Given the description of an element on the screen output the (x, y) to click on. 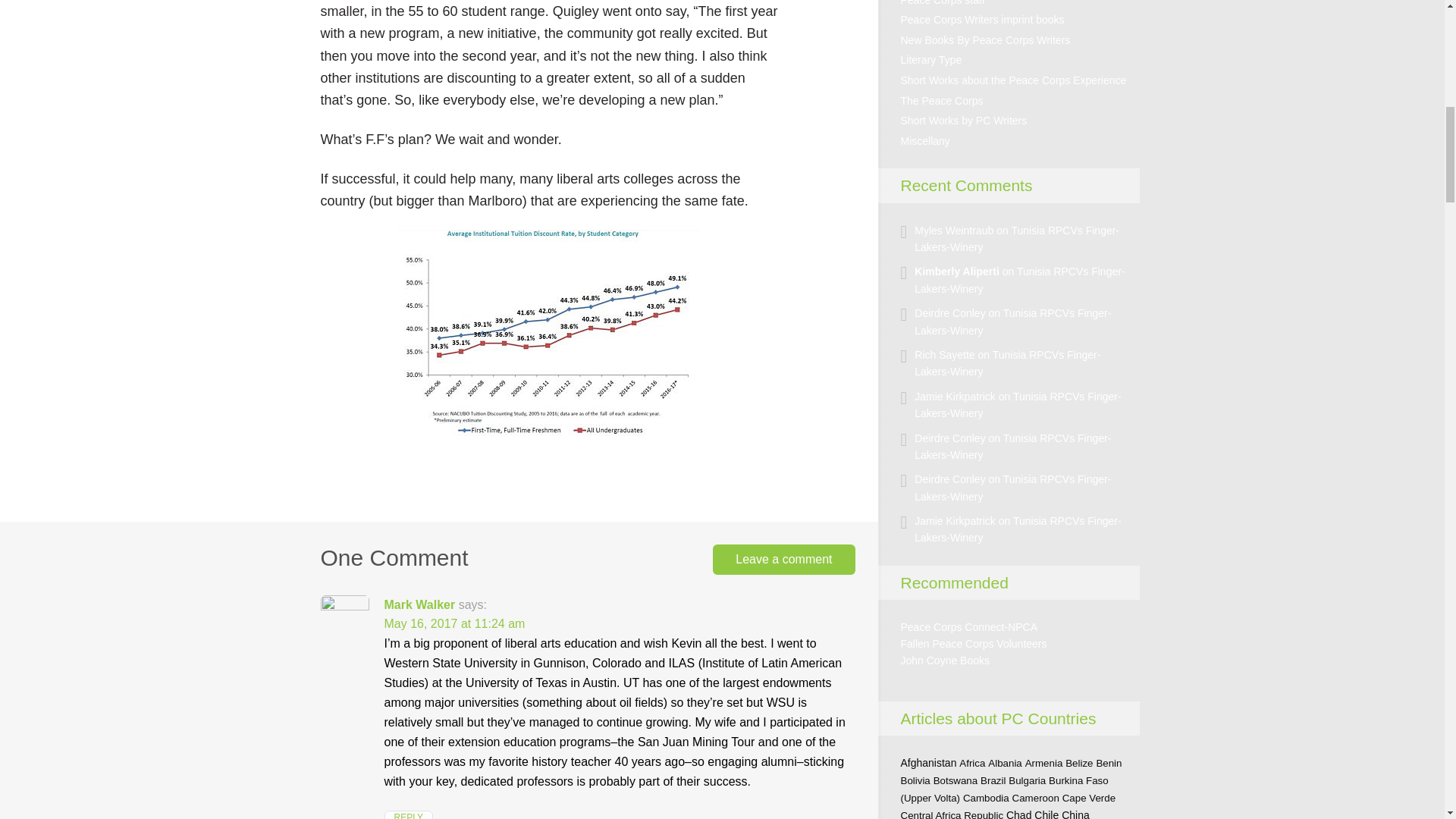
Leave a comment (783, 559)
May 16, 2017 at 11:24 am (454, 623)
Mark Walker (419, 604)
3 topics (1108, 763)
11 topics (1079, 763)
3 topics (1005, 763)
6 topics (1027, 780)
21 topics (928, 762)
12 topics (915, 780)
12 topics (955, 780)
REPLY (408, 814)
9 topics (992, 780)
7 topics (972, 763)
7 topics (1043, 763)
